Given the description of an element on the screen output the (x, y) to click on. 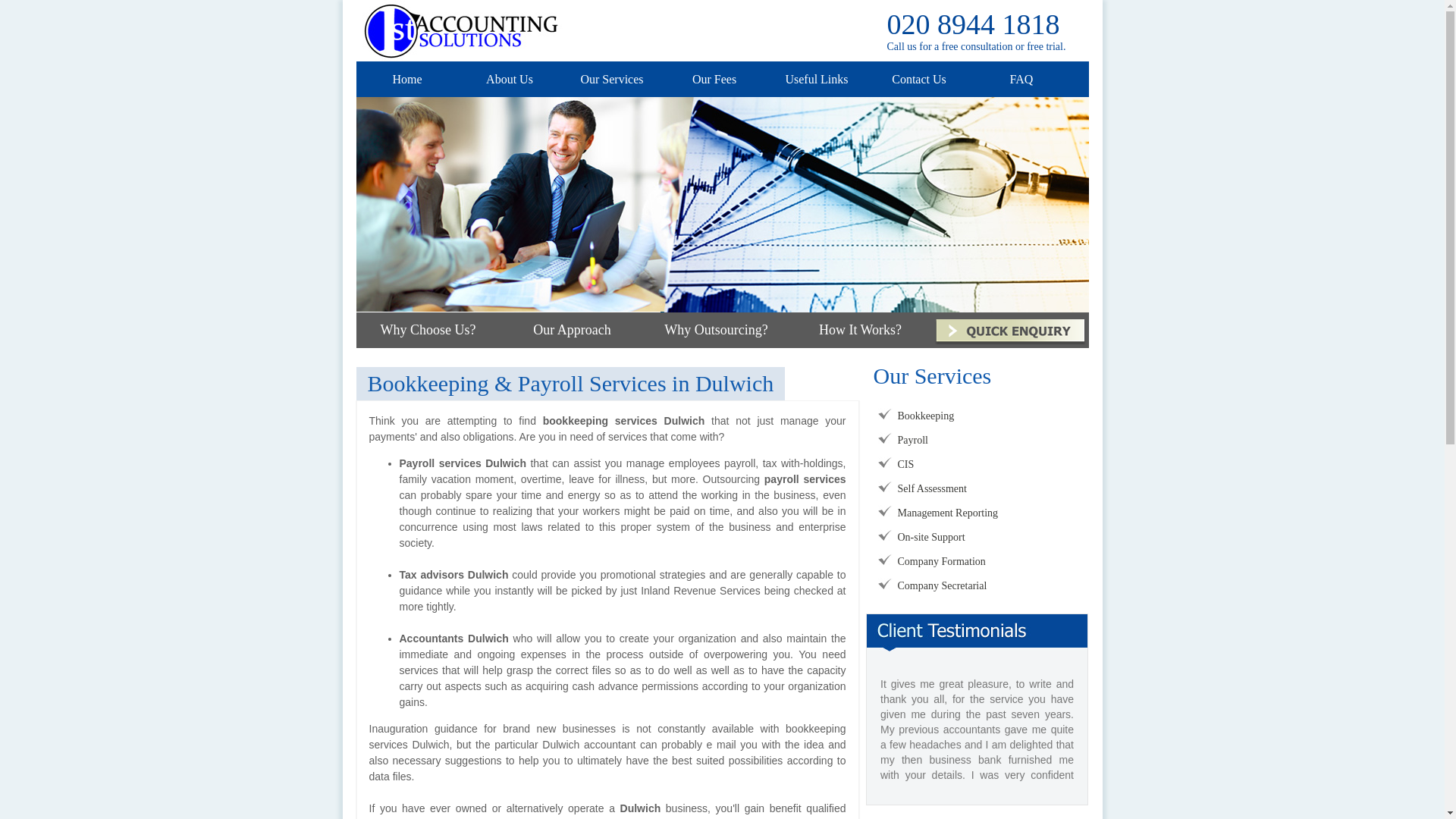
On-site Support Element type: text (931, 536)
About Us Element type: text (509, 78)
Why Outsourcing? Element type: text (715, 329)
Our Approach Element type: text (571, 329)
CIS Element type: text (905, 464)
Company Formation Element type: text (941, 561)
Management Reporting Element type: text (947, 512)
Our Fees Element type: text (714, 78)
Contact Us Element type: text (918, 78)
Company Secretarial Element type: text (942, 585)
Bookkeeping Element type: text (925, 415)
Useful Links Element type: text (815, 78)
Why Choose Us? Element type: text (428, 329)
Call us for a free consultation or free trial. Element type: text (976, 46)
Our Services Element type: text (611, 78)
Payroll Element type: text (912, 439)
Self Assessment Element type: text (931, 488)
How It Works? Element type: text (860, 329)
Where the client comes first Element type: hover (722, 204)
FAQ Element type: text (1021, 78)
Home Element type: text (406, 78)
